Given the description of an element on the screen output the (x, y) to click on. 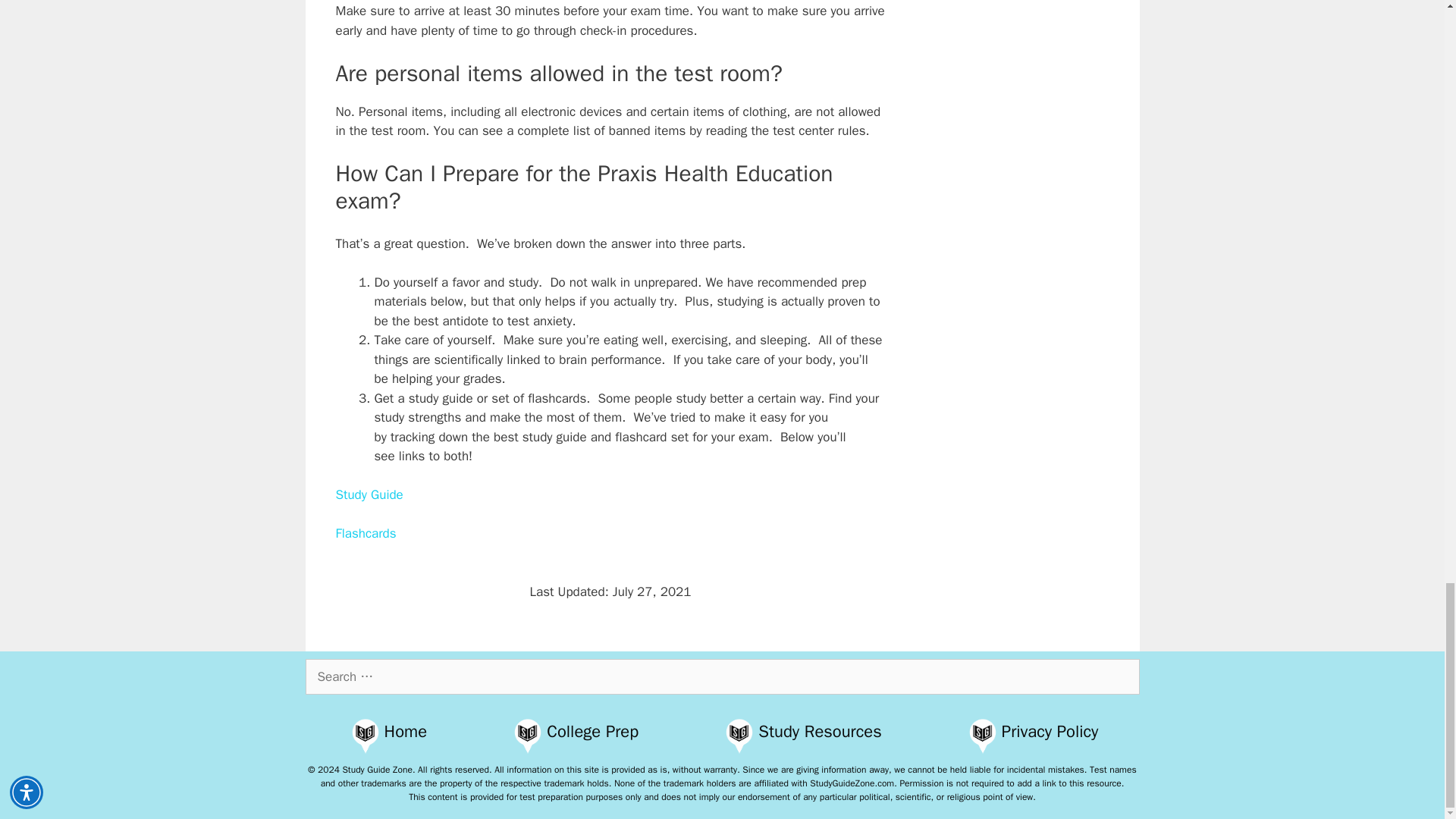
Flashcards (365, 533)
Study Resources (819, 731)
Privacy Policy (1050, 731)
Home (406, 731)
College Prep (593, 731)
Search for: (721, 676)
Study Guide (368, 494)
